Given the description of an element on the screen output the (x, y) to click on. 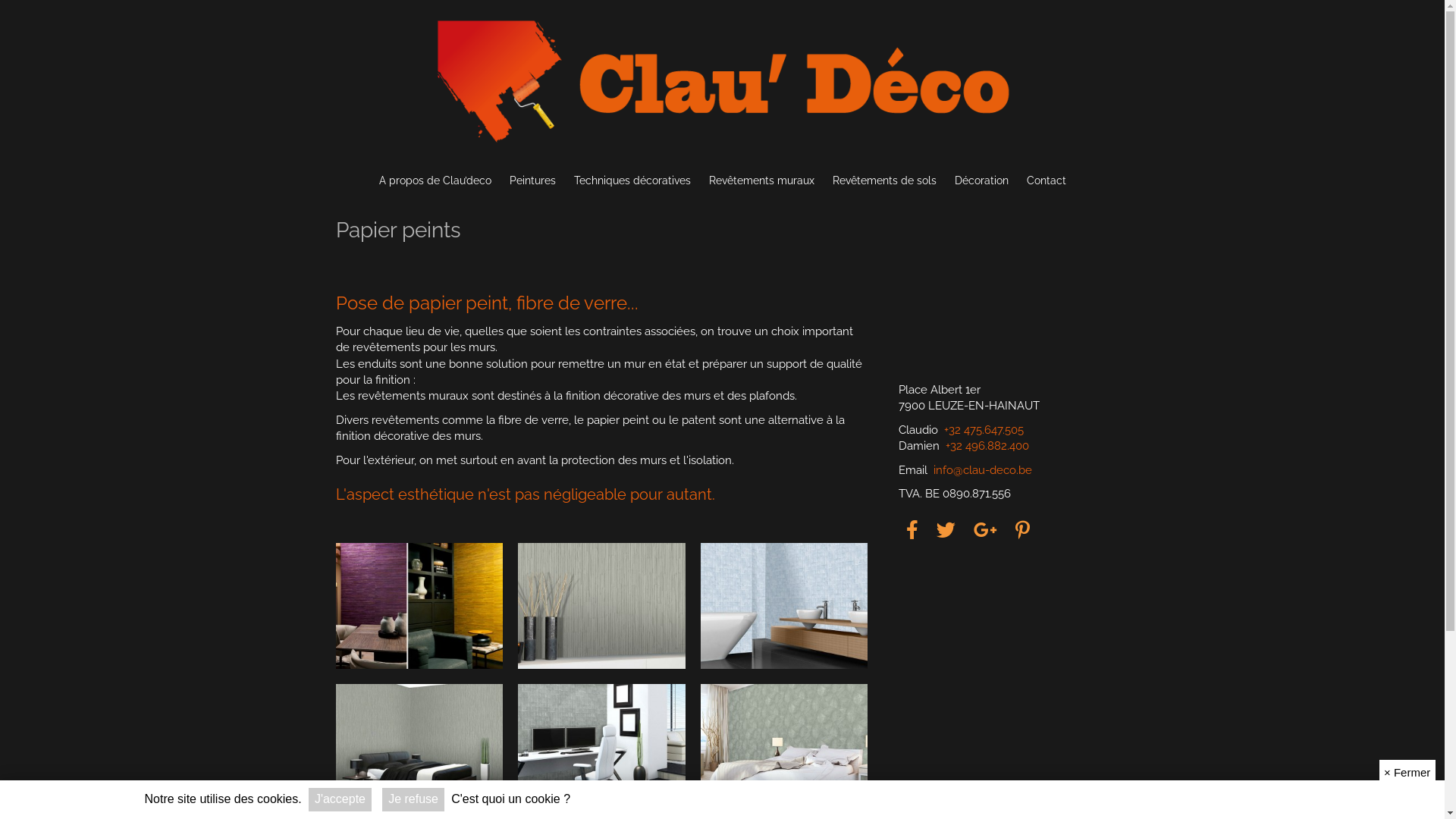
Je refuse Element type: text (413, 799)
C'est quoi un cookie ? Element type: text (510, 799)
Contact Element type: text (1046, 181)
J'accepte Element type: text (339, 799)
info@clau-deco.be Element type: text (981, 469)
+32 496.882.400 Element type: text (986, 445)
+32 475.647.505 Element type: text (982, 429)
Peintures Element type: text (532, 181)
